Given the description of an element on the screen output the (x, y) to click on. 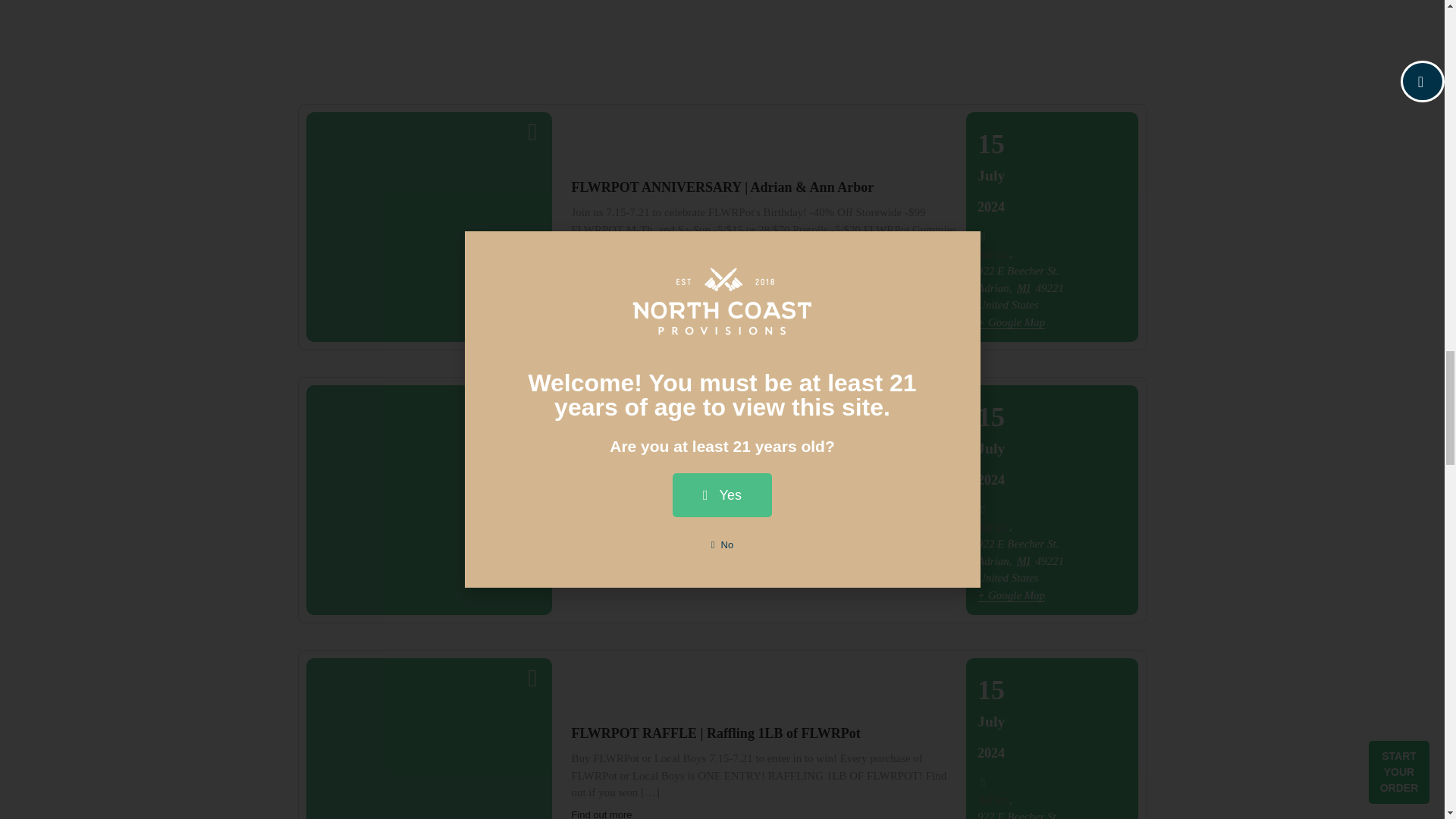
Michigan (1023, 287)
Michigan (1023, 561)
Click to view a Google Map (1010, 594)
Adrian (992, 526)
Click to view a Google Map (1010, 322)
Adrian (992, 254)
